Given the description of an element on the screen output the (x, y) to click on. 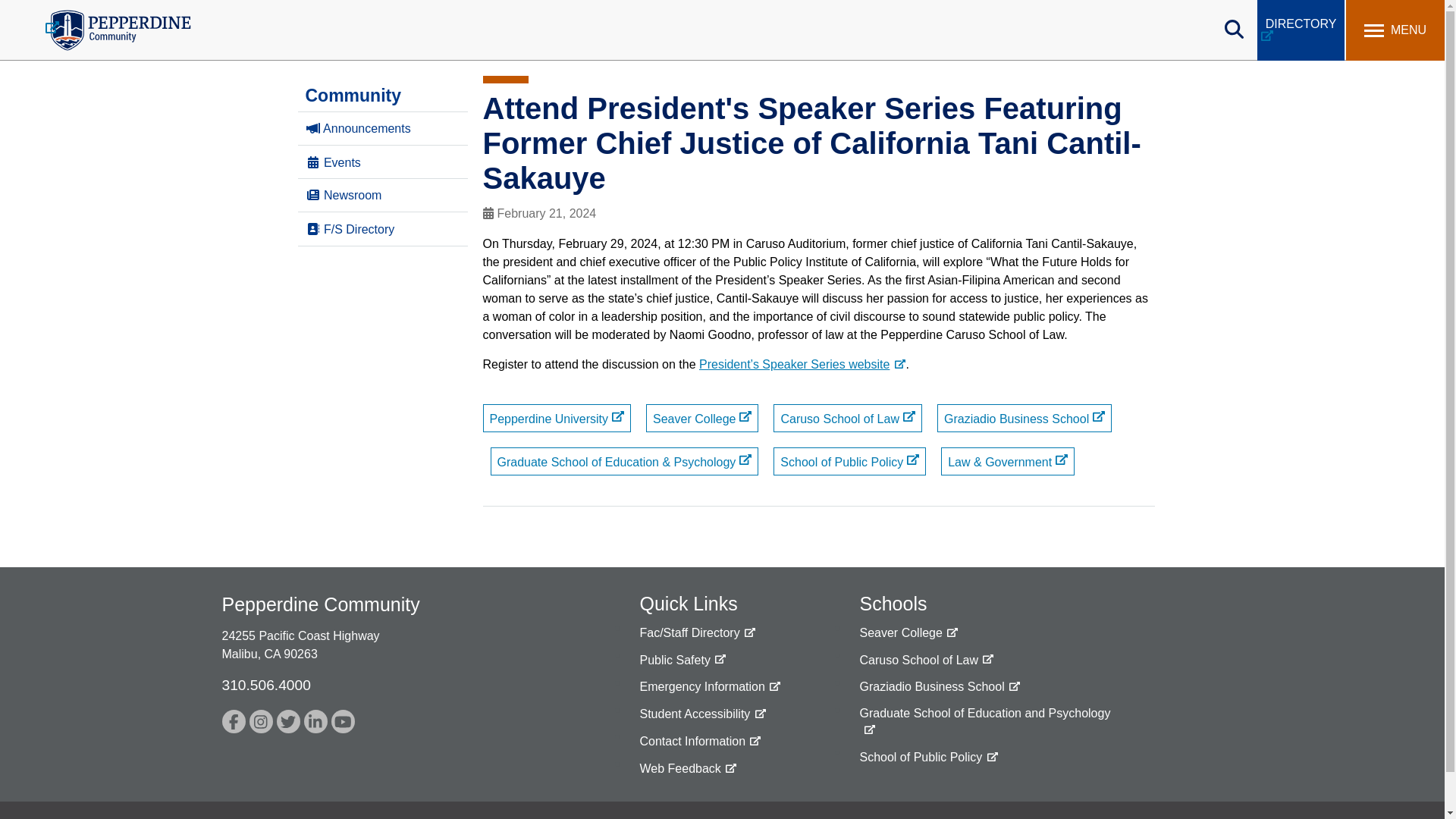
open search (1234, 28)
DIRECTORY (1300, 30)
calendar icon (487, 213)
Search site (1172, 22)
Submit (502, 19)
